Given the description of an element on the screen output the (x, y) to click on. 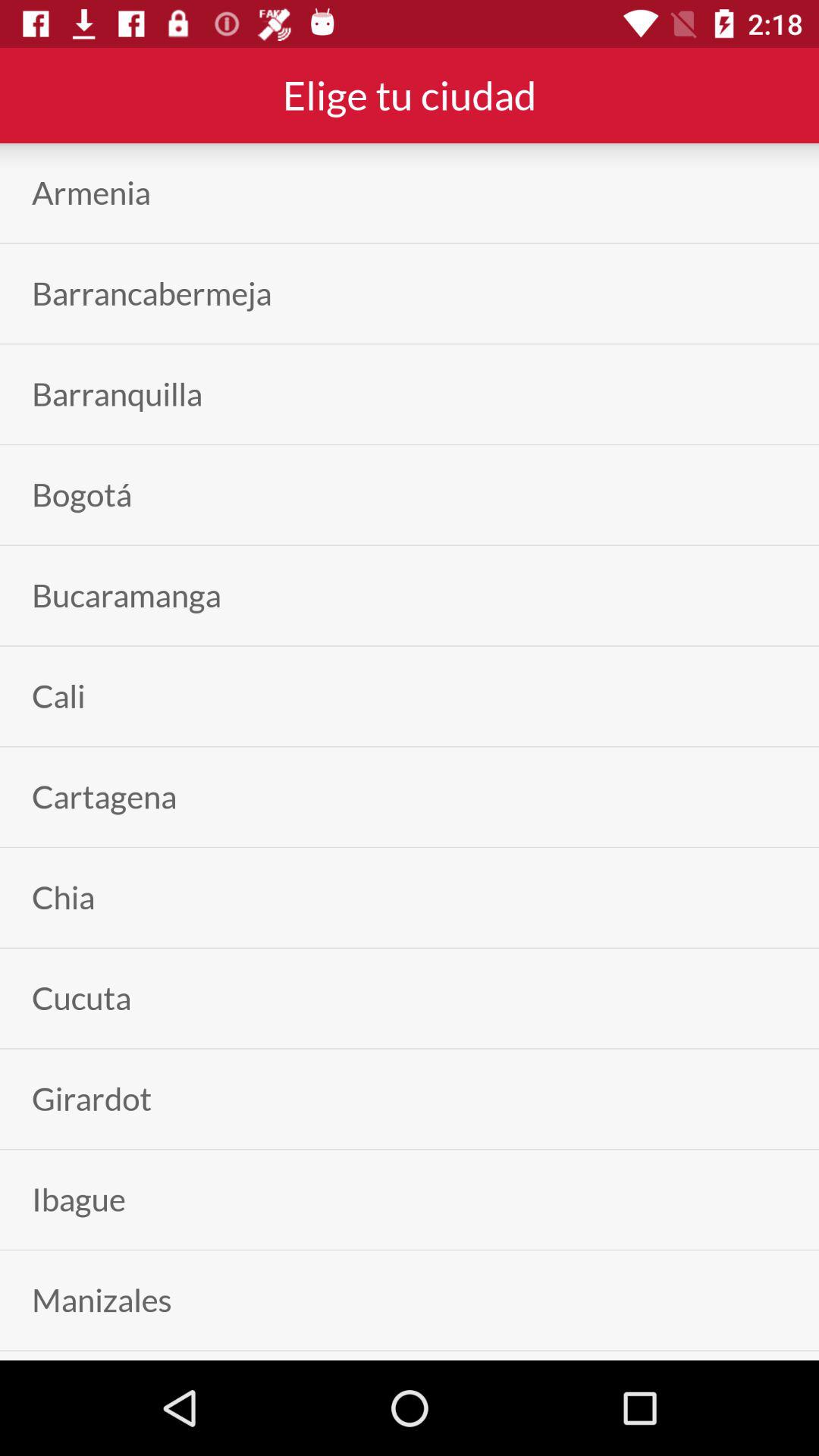
turn on item below the cucuta app (91, 1099)
